Given the description of an element on the screen output the (x, y) to click on. 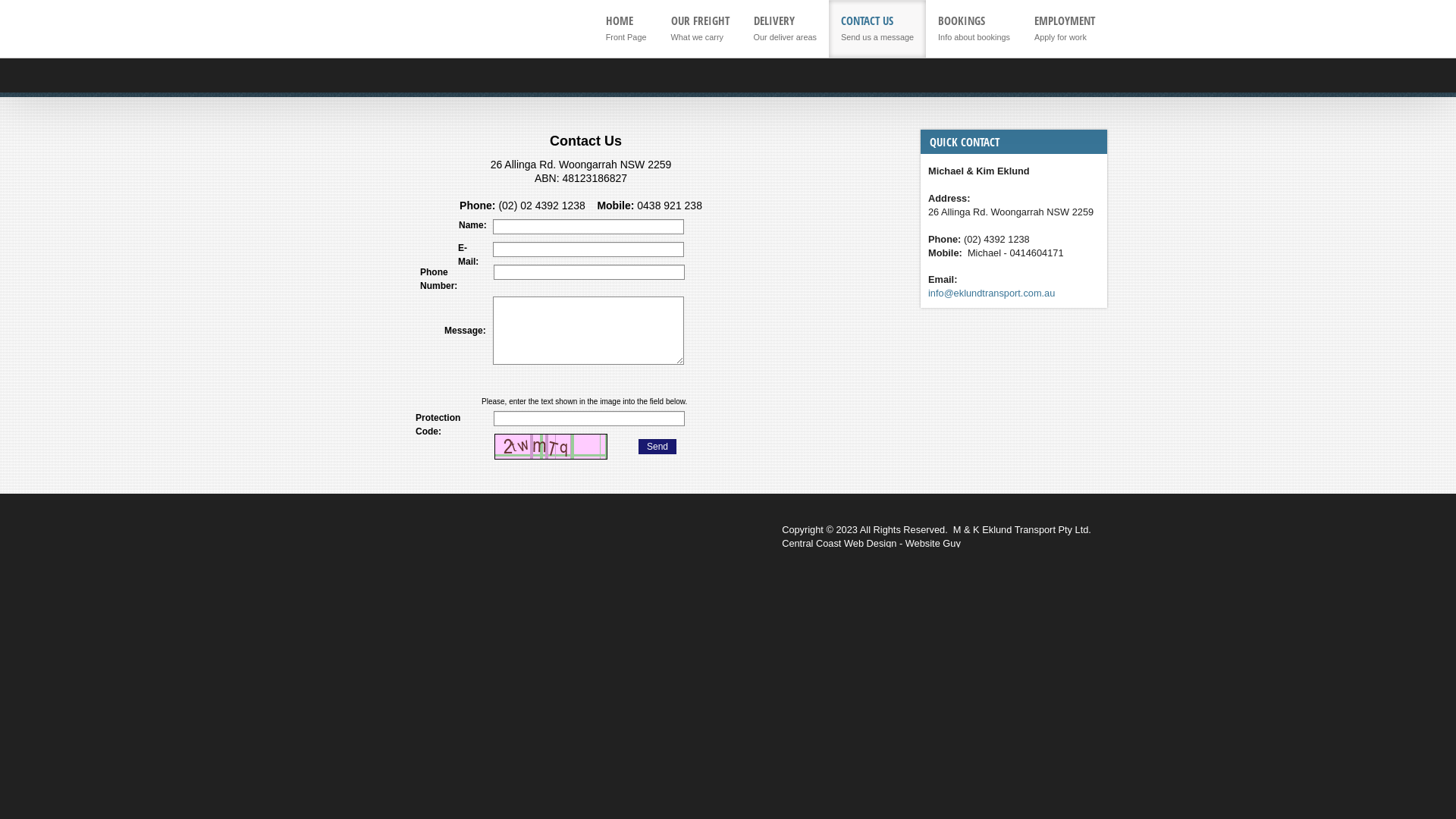
EMPLOYMENT Element type: text (1064, 20)
BOOKINGS Element type: text (961, 20)
Info about bookings Element type: text (974, 36)
CONTACT US Element type: text (866, 20)
Send us a message Element type: text (876, 36)
Our deliver areas Element type: text (784, 36)
Front Page Element type: text (625, 36)
HOME Element type: text (619, 20)
Apply for work Element type: text (1064, 36)
What we carry Element type: text (700, 36)
OUR FREIGHT Element type: text (700, 20)
DELIVERY Element type: text (773, 20)
Central Coast Web Design - Website Guy Element type: text (870, 543)
Send Element type: text (657, 446)
info@eklundtransport.com.au Element type: text (991, 292)
